Given the description of an element on the screen output the (x, y) to click on. 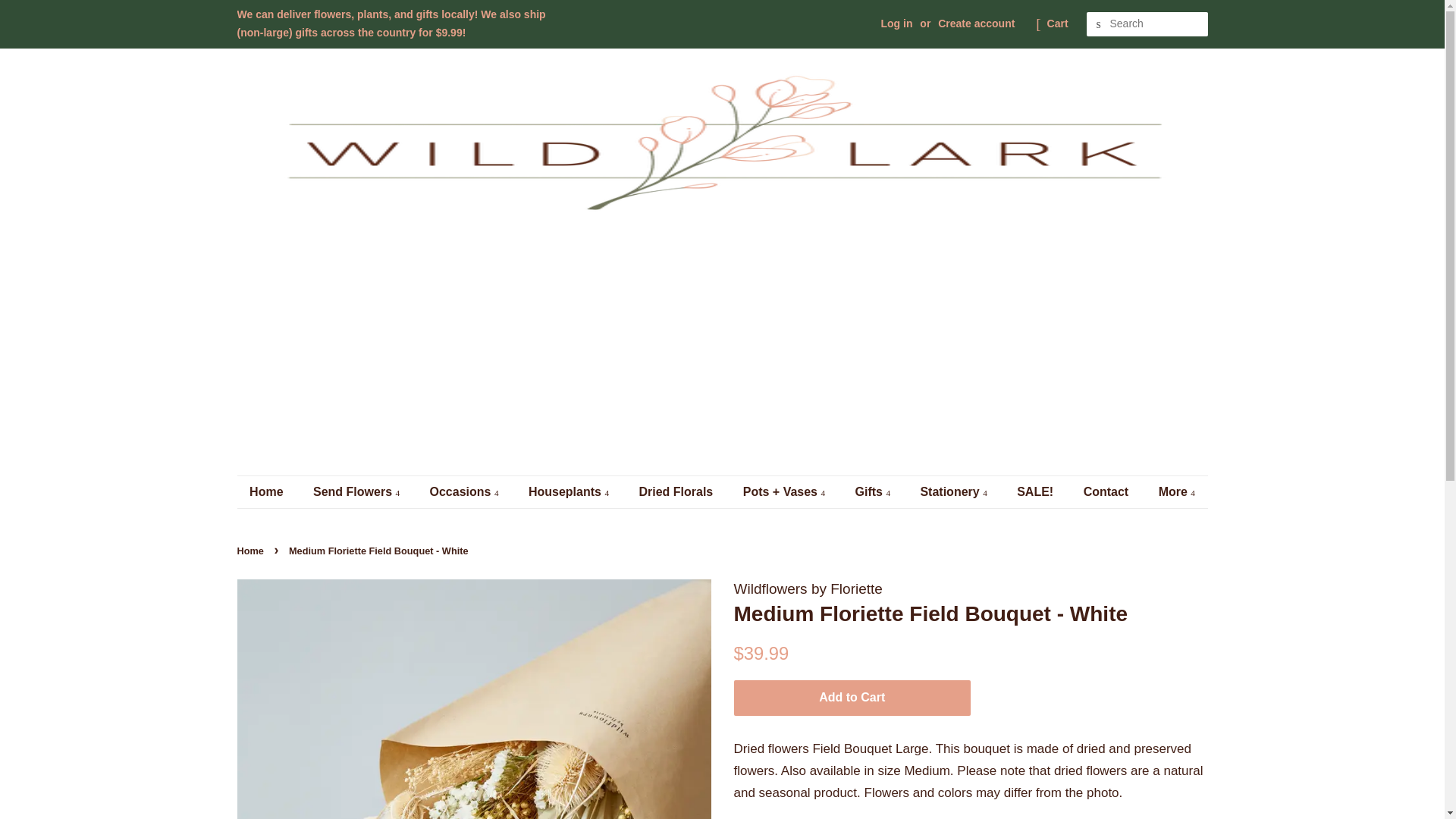
Search (1097, 24)
Create account (975, 23)
Cart (1057, 24)
Back to the frontpage (250, 550)
Log in (896, 23)
